Given the description of an element on the screen output the (x, y) to click on. 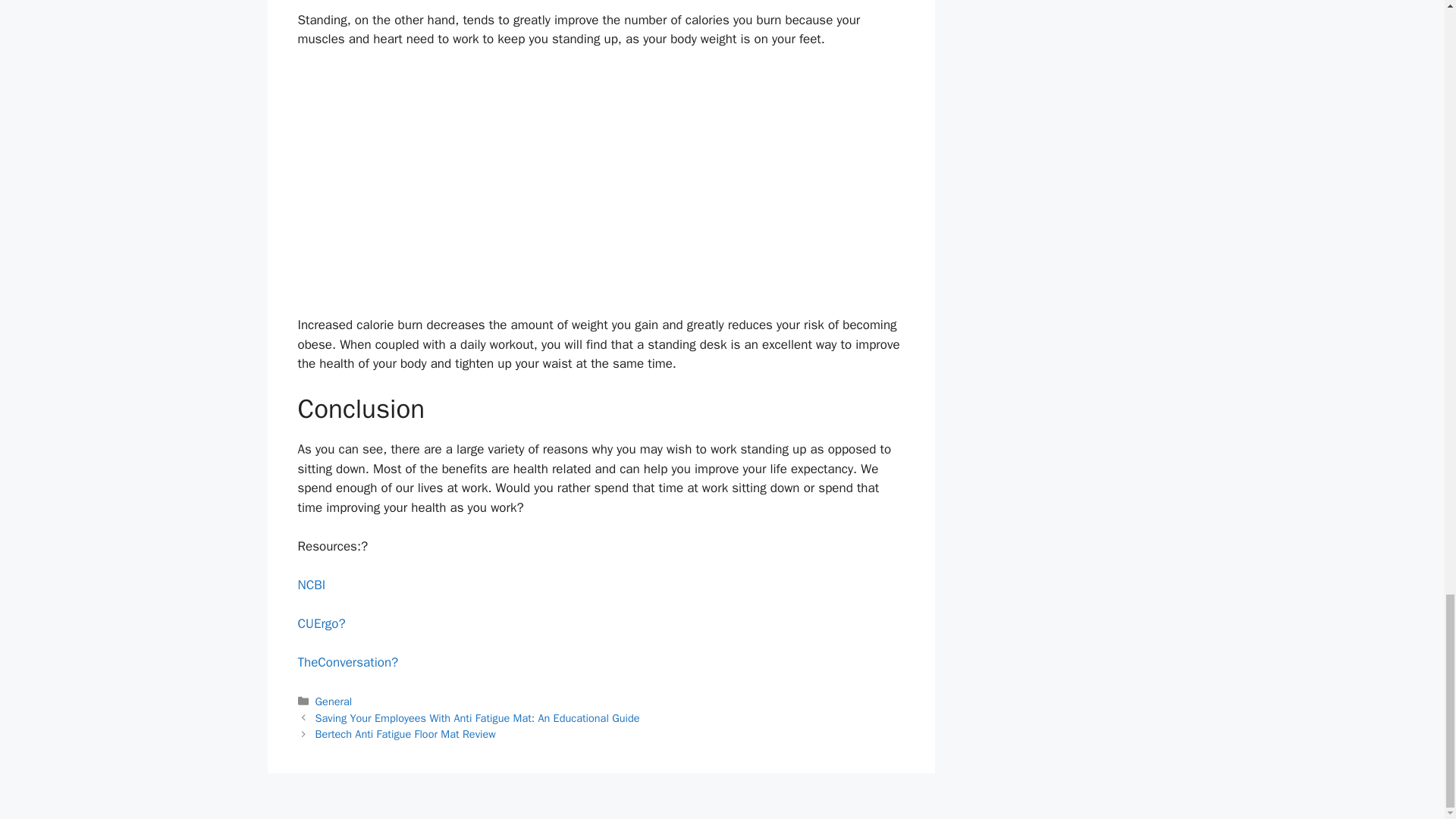
General (333, 701)
TheConversation? (347, 662)
CUErgo? (321, 623)
Bertech Anti Fatigue Floor Mat Review (405, 734)
NCBI (310, 584)
